Given the description of an element on the screen output the (x, y) to click on. 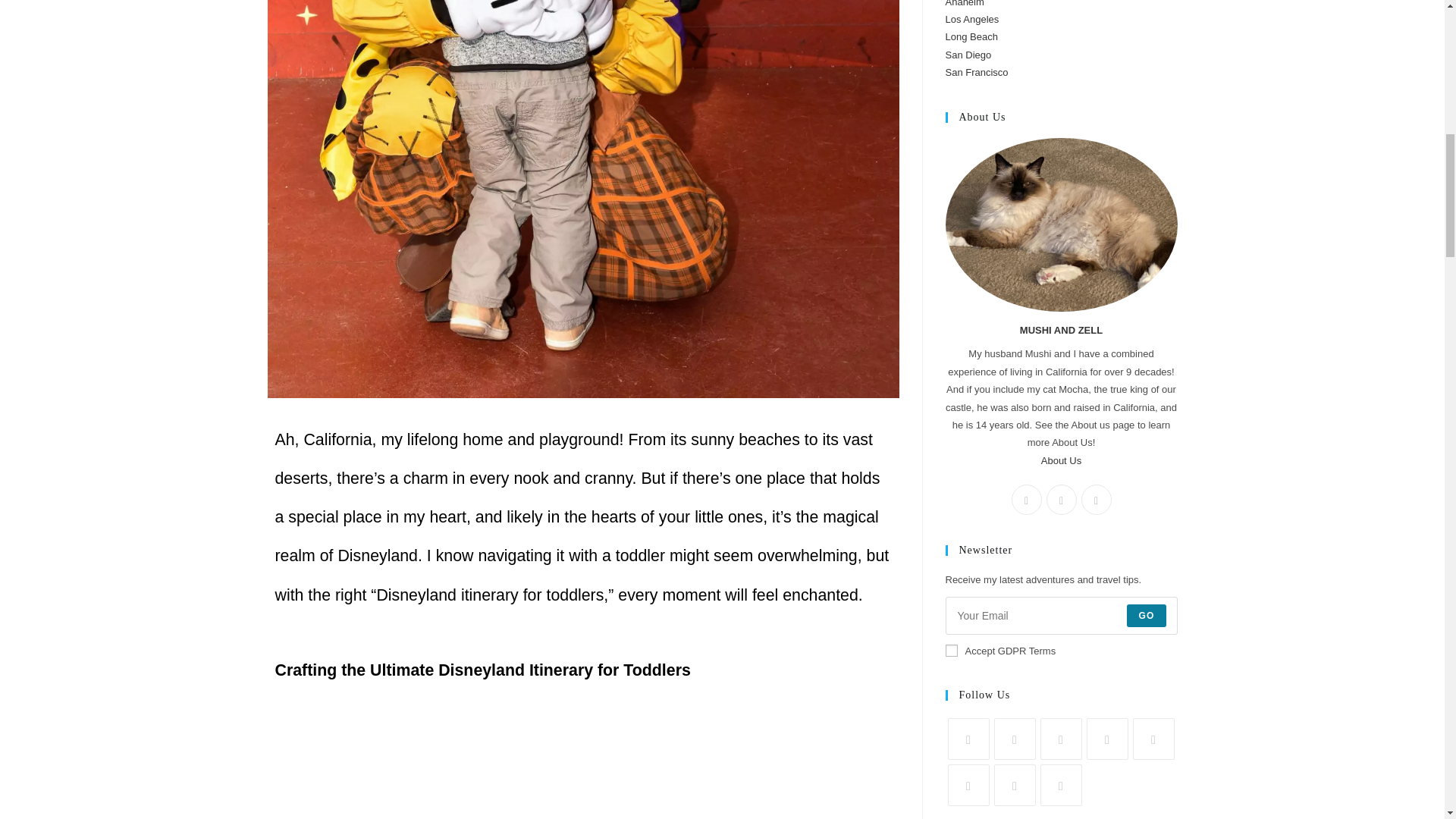
1 (950, 650)
